Given the description of an element on the screen output the (x, y) to click on. 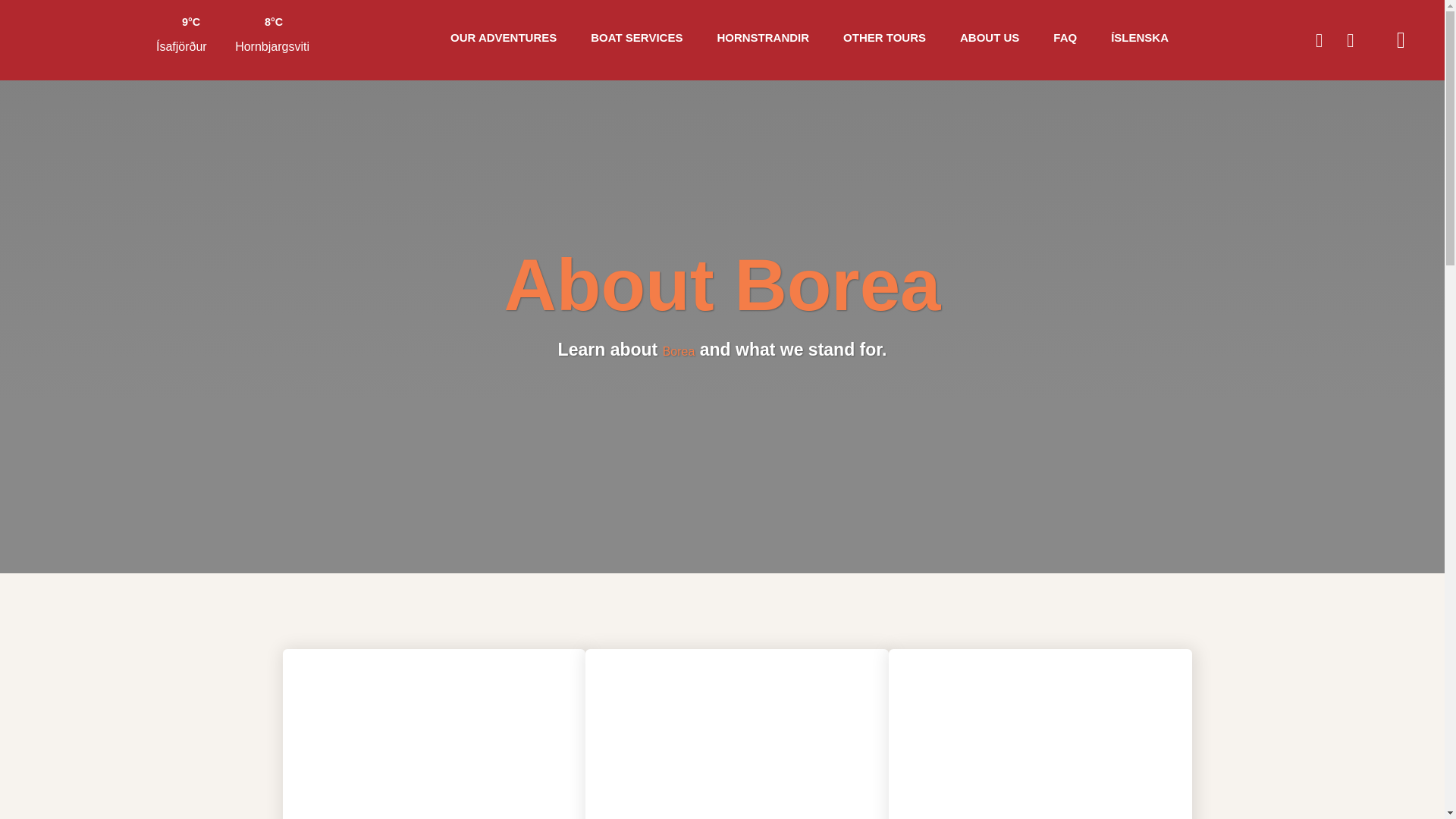
ABOUT US (989, 37)
OTHER TOURS (884, 37)
Borea (678, 350)
BOAT SERVICES (636, 37)
FAQ (1064, 37)
HORNSTRANDIR (762, 37)
OUR ADVENTURES (502, 37)
